Given the description of an element on the screen output the (x, y) to click on. 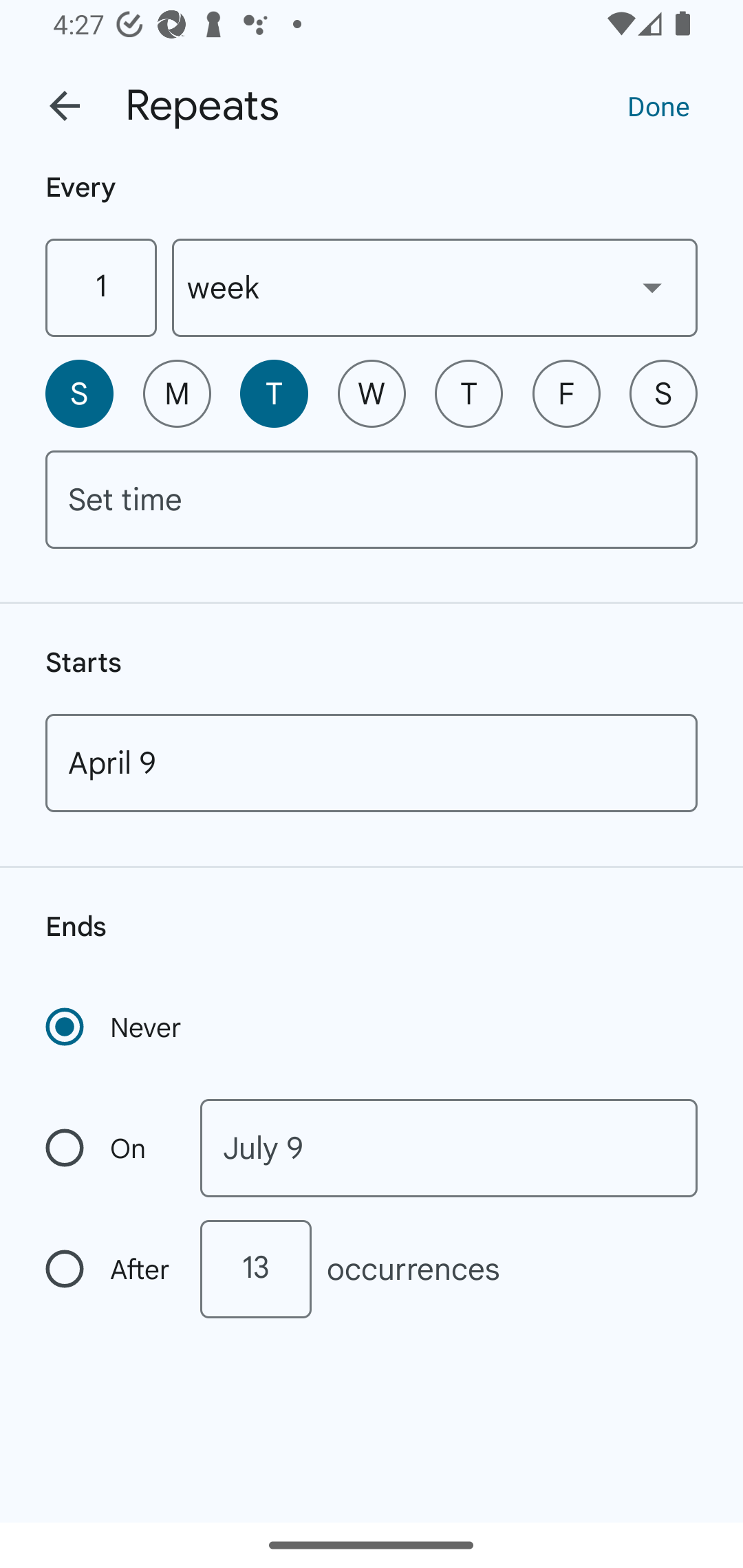
Back (64, 105)
Done (658, 105)
1 (100, 287)
week (434, 287)
Show dropdown menu (652, 286)
S Sunday, selected (79, 393)
M Monday (177, 393)
T Tuesday, selected (273, 393)
W Wednesday (371, 393)
T Thursday (468, 393)
F Friday (566, 393)
S Saturday (663, 393)
Set time (371, 499)
April 9 (371, 762)
Never Recurrence never ends (115, 1026)
July 9 (448, 1148)
On Recurrence ends on a specific date (109, 1148)
13 (255, 1268)
